Given the description of an element on the screen output the (x, y) to click on. 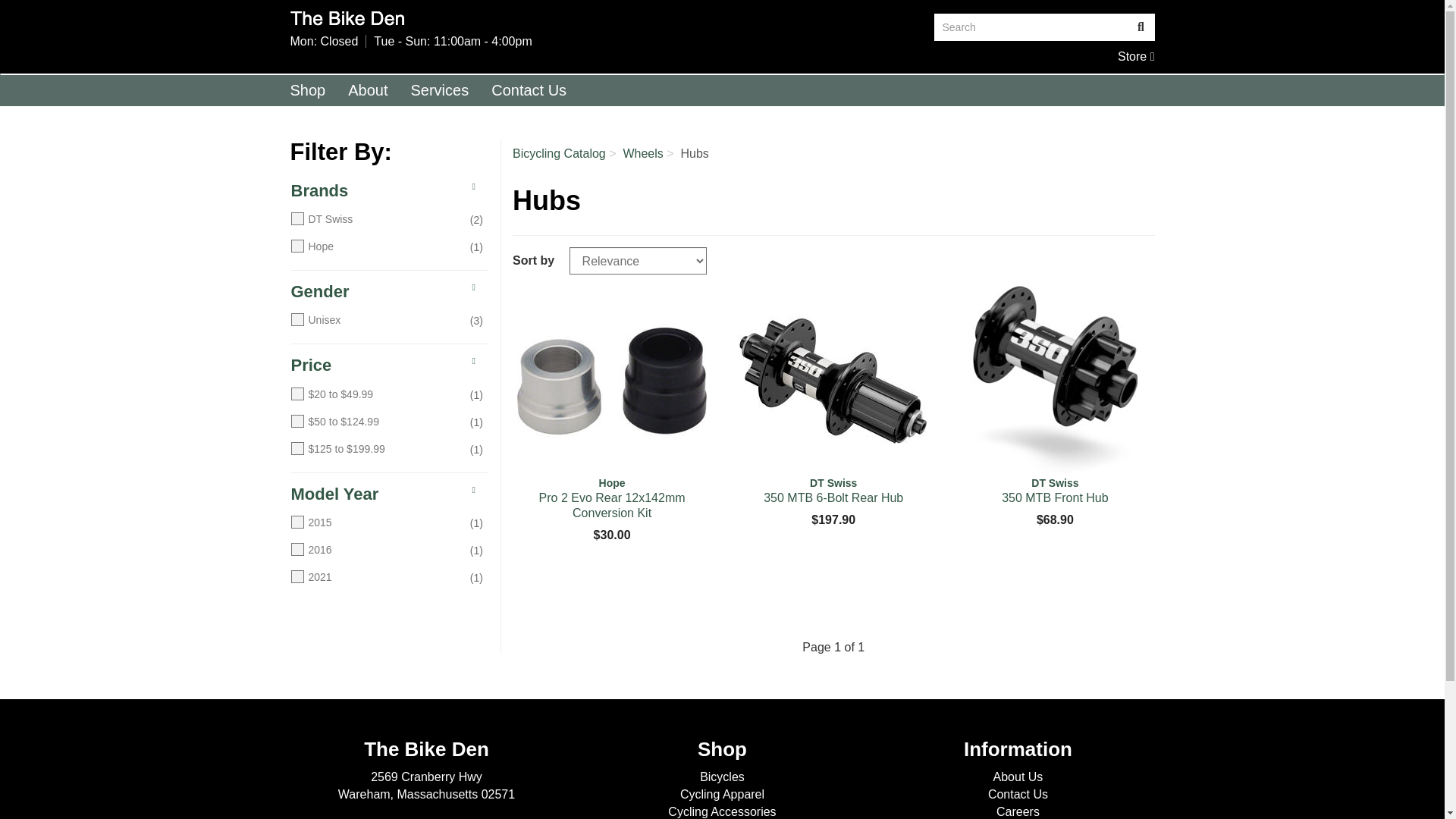
The Bike Den Home Page (499, 18)
Search (1136, 56)
DT Swiss 350 MTB Front Hub (1031, 26)
Hope Pro 2 Evo Rear 12x142mm Conversion Kit (1054, 380)
Search (611, 497)
DT Swiss 350 MTB Front Hub (1140, 26)
DT Swiss 350 MTB 6-Bolt Rear Hub (1054, 490)
Store (833, 490)
Hope Pro 2 Evo Rear 12x142mm Conversion Kit (1136, 56)
Shop (611, 380)
DT Swiss 350 MTB 6-Bolt Rear Hub (308, 90)
